Given the description of an element on the screen output the (x, y) to click on. 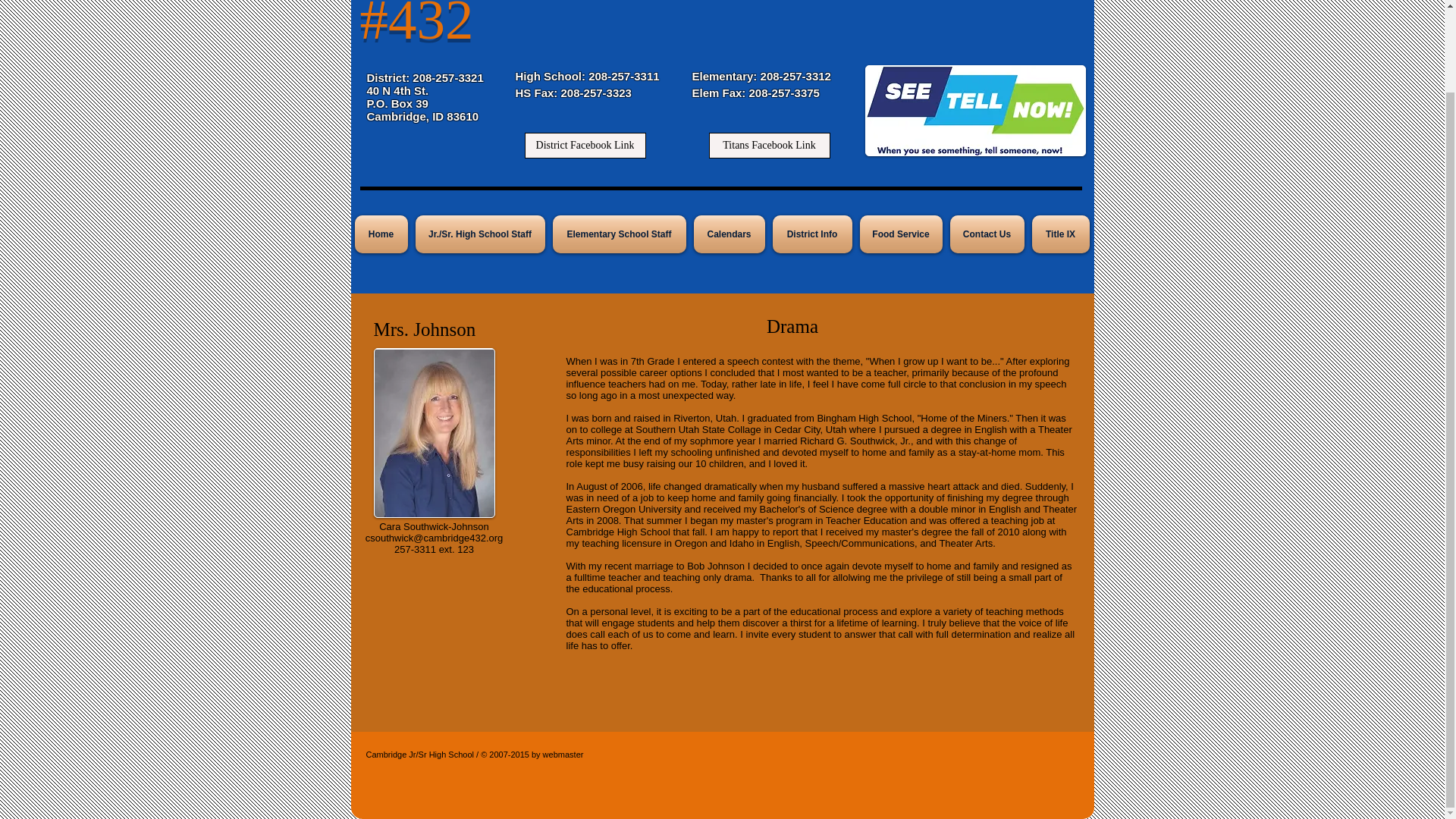
Titans Facebook Link (768, 145)
Calendars (729, 234)
Food Service (900, 234)
District Facebook Link (585, 145)
Home (383, 234)
Contact Us (986, 234)
Elementary School Staff (619, 234)
District Info (812, 234)
Title IX (1058, 234)
